Given the description of an element on the screen output the (x, y) to click on. 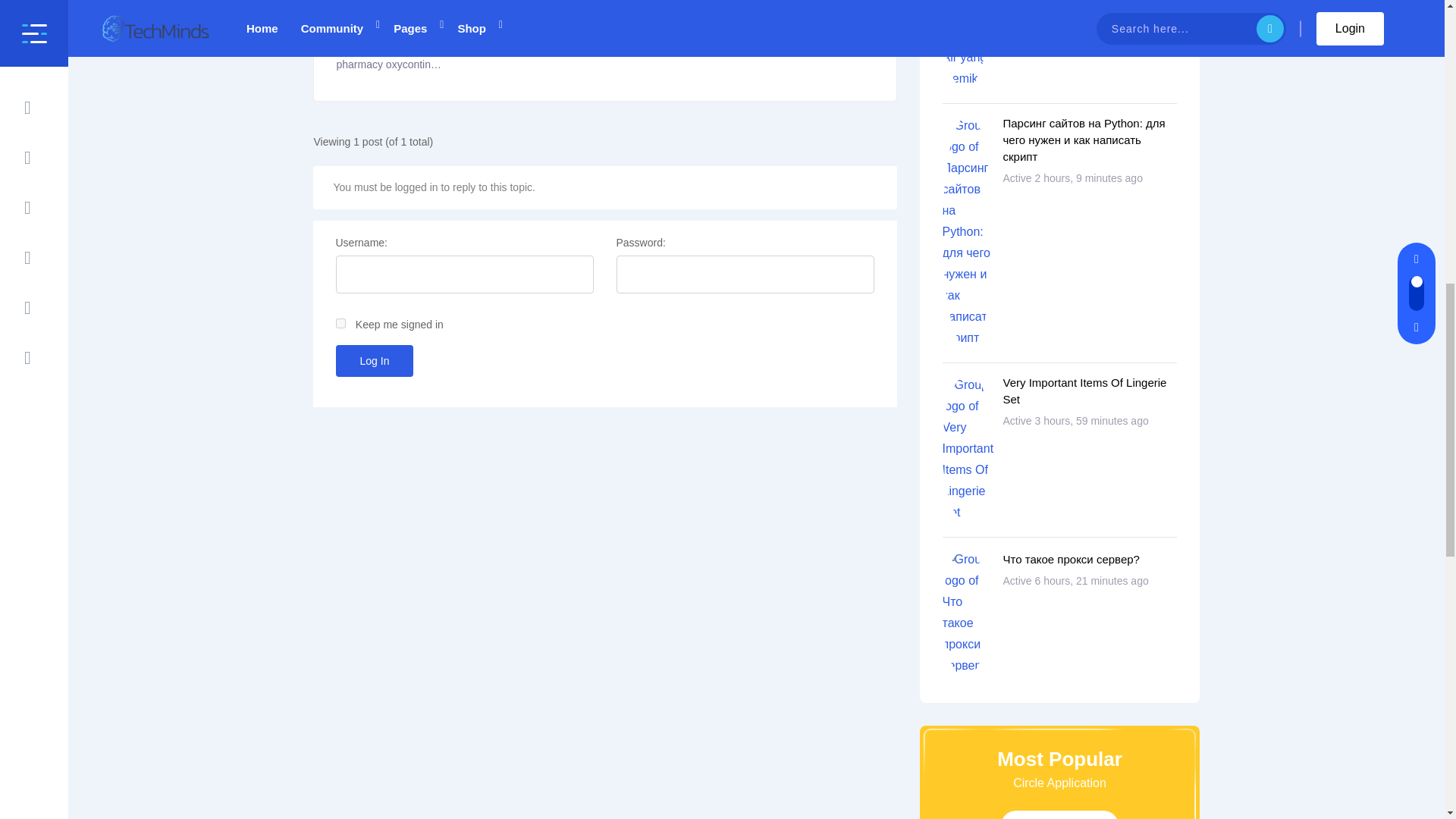
forever (339, 323)
